Given the description of an element on the screen output the (x, y) to click on. 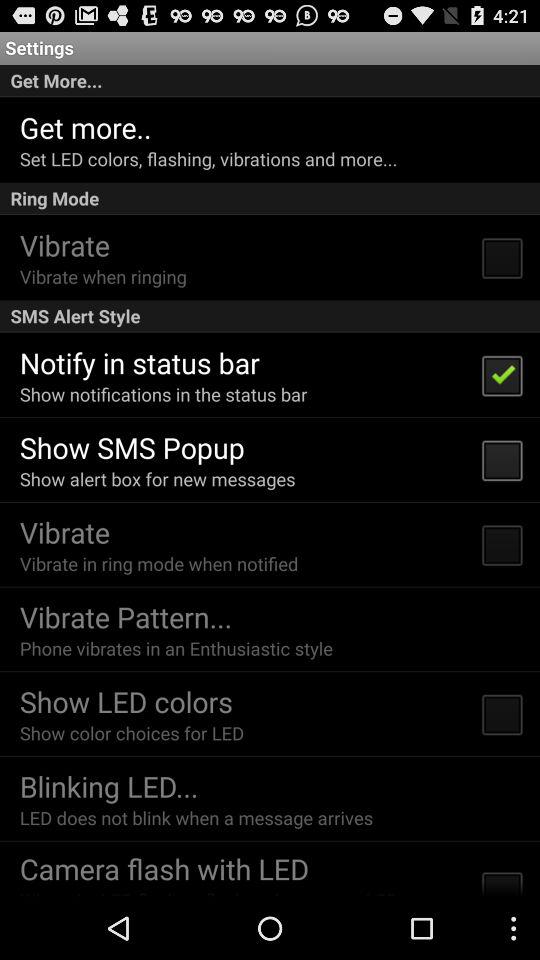
scroll to the show notifications in (163, 393)
